Given the description of an element on the screen output the (x, y) to click on. 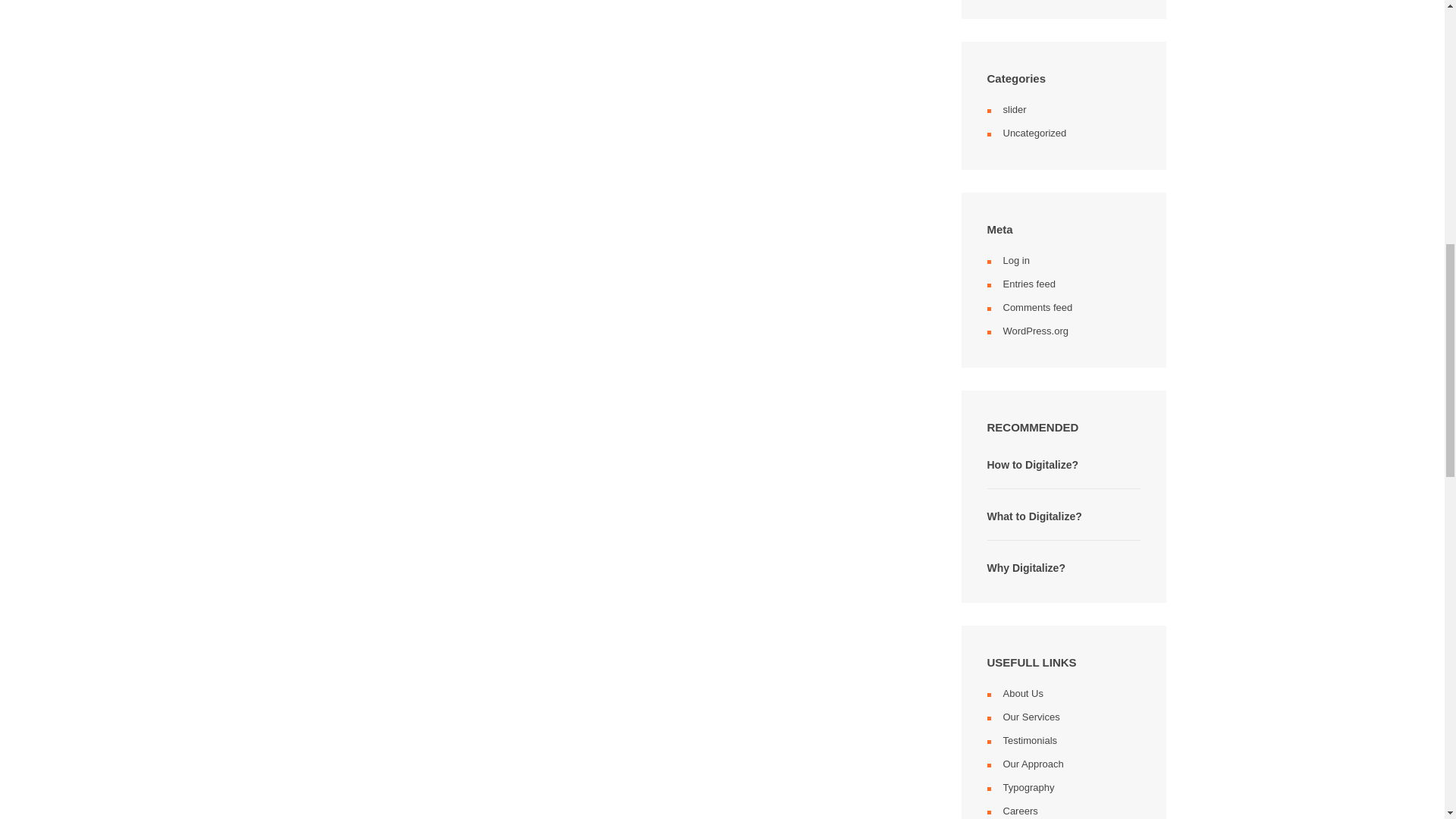
Log in (1016, 260)
What to Digitalize? (1034, 515)
Testimonials (1030, 739)
Typography (1028, 786)
About Us (1022, 692)
Why Digitalize? (1026, 566)
Our Services (1031, 716)
Careers (1019, 810)
Comments feed (1037, 307)
WordPress.org (1035, 329)
How to Digitalize? (1032, 463)
Entries feed (1028, 283)
Our Approach (1032, 763)
Uncategorized (1034, 132)
slider (1014, 108)
